Given the description of an element on the screen output the (x, y) to click on. 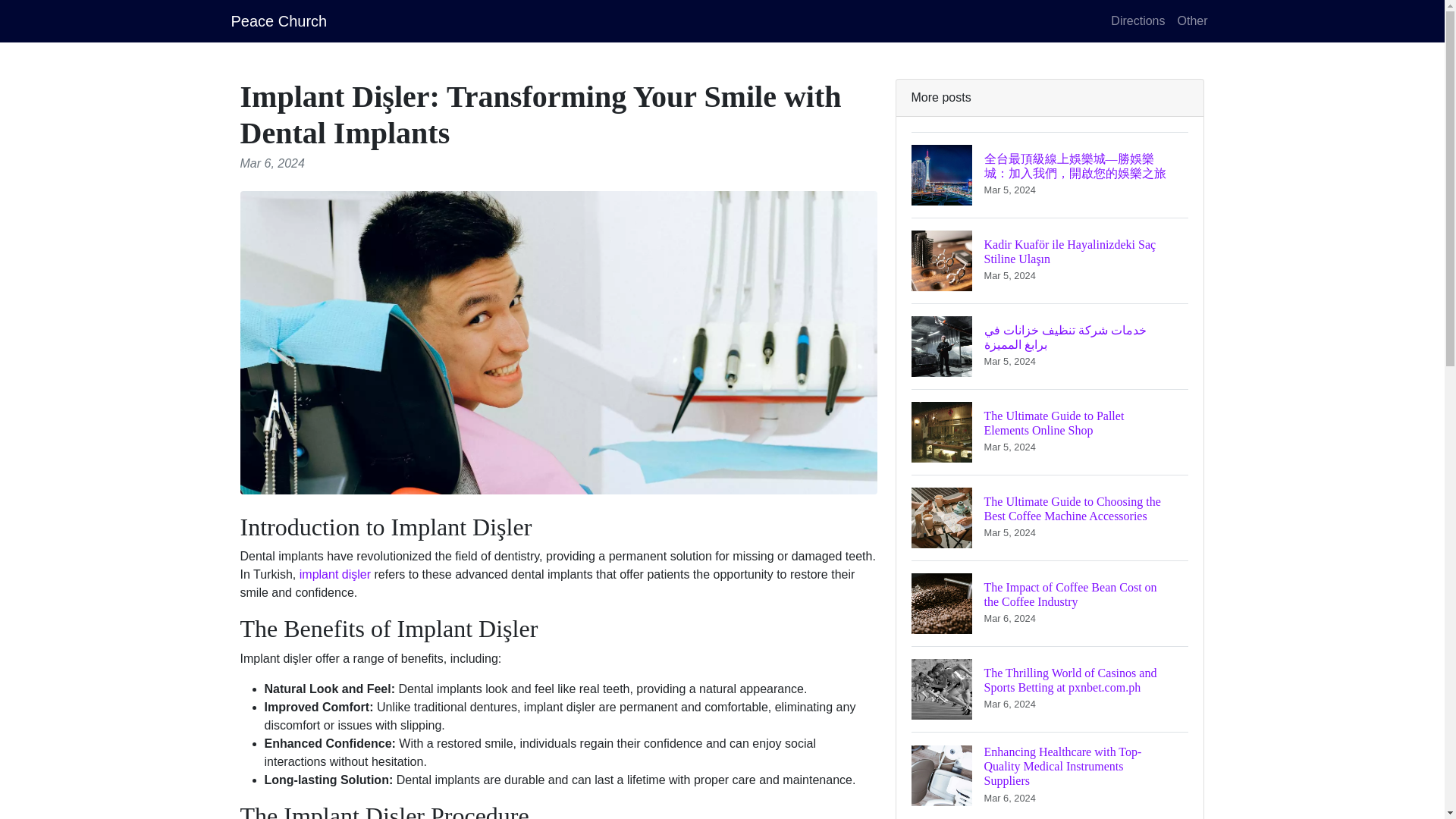
Directions (1137, 20)
Peace Church (278, 20)
Other (1191, 20)
